Given the description of an element on the screen output the (x, y) to click on. 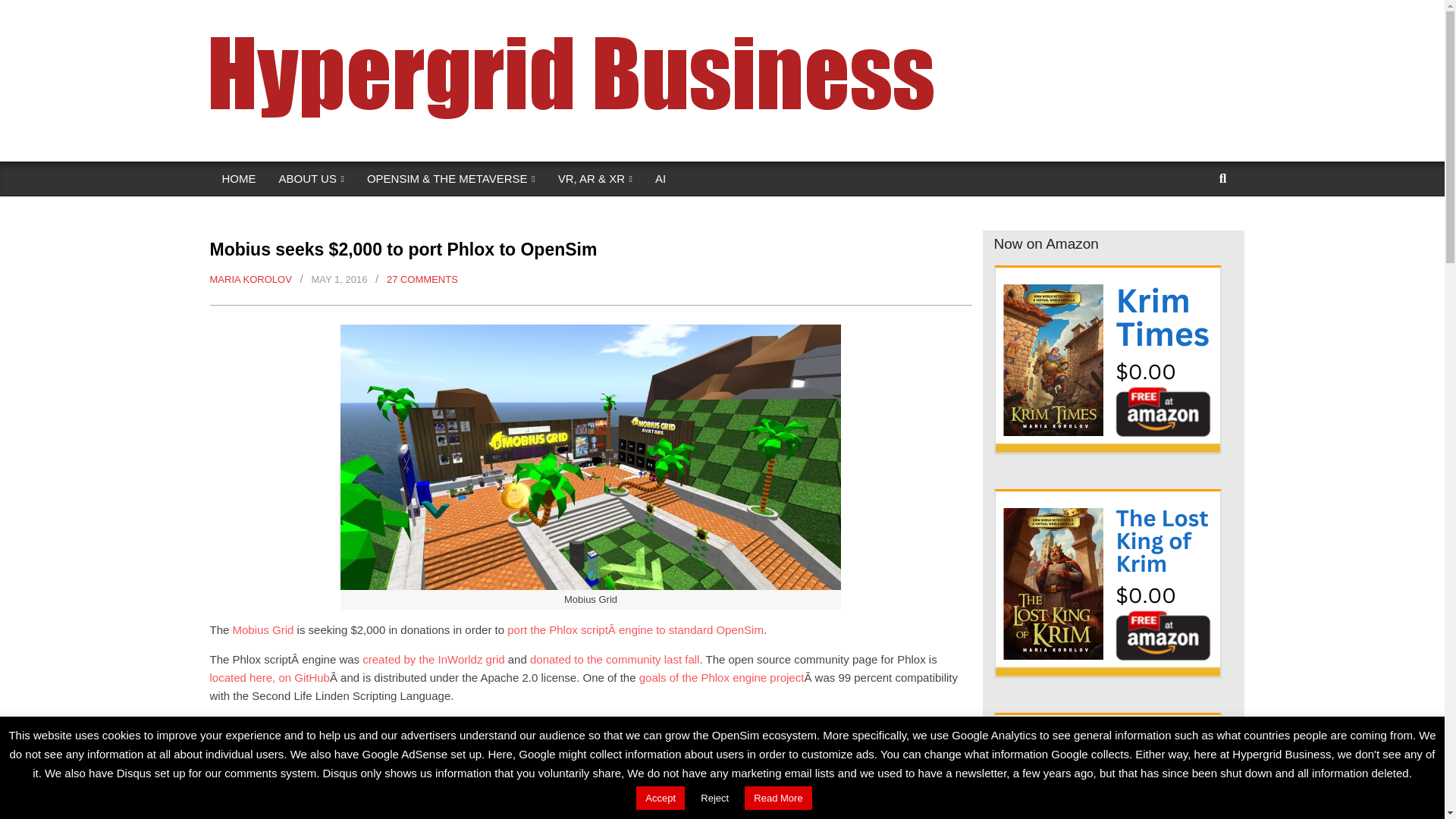
Sunday, May 1, 2016, 12:43 pm (338, 279)
HOME (239, 178)
Home (454, 9)
Metaverse (580, 9)
ABOUT US (310, 178)
Posts by Maria Korolov (250, 279)
What is OpenSim? (669, 9)
VR Headsets (886, 9)
VR QR Codes (971, 9)
Free land in OpenSim (783, 9)
